Given the description of an element on the screen output the (x, y) to click on. 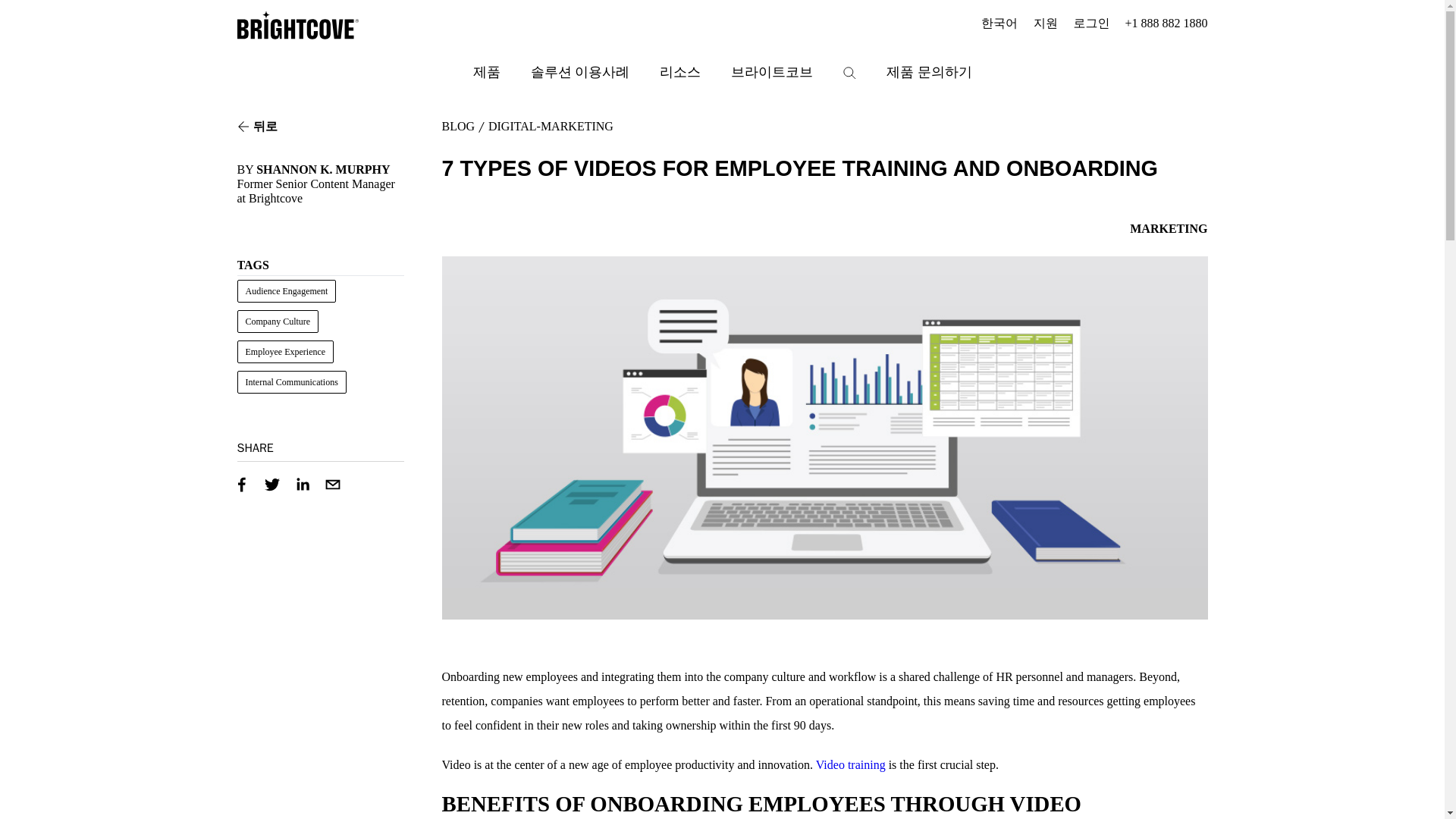
BLOG (457, 125)
DIGITAL-MARKETING (549, 125)
Employee Experience (284, 351)
How to Make Employee Training Videos More Engaging (850, 764)
Video training (850, 764)
Audience Engagement (285, 291)
SEARCH ICONA MAGNIFYING GLASS ICON. (849, 72)
Company Culture (276, 321)
Internal Communications (290, 382)
